Given the description of an element on the screen output the (x, y) to click on. 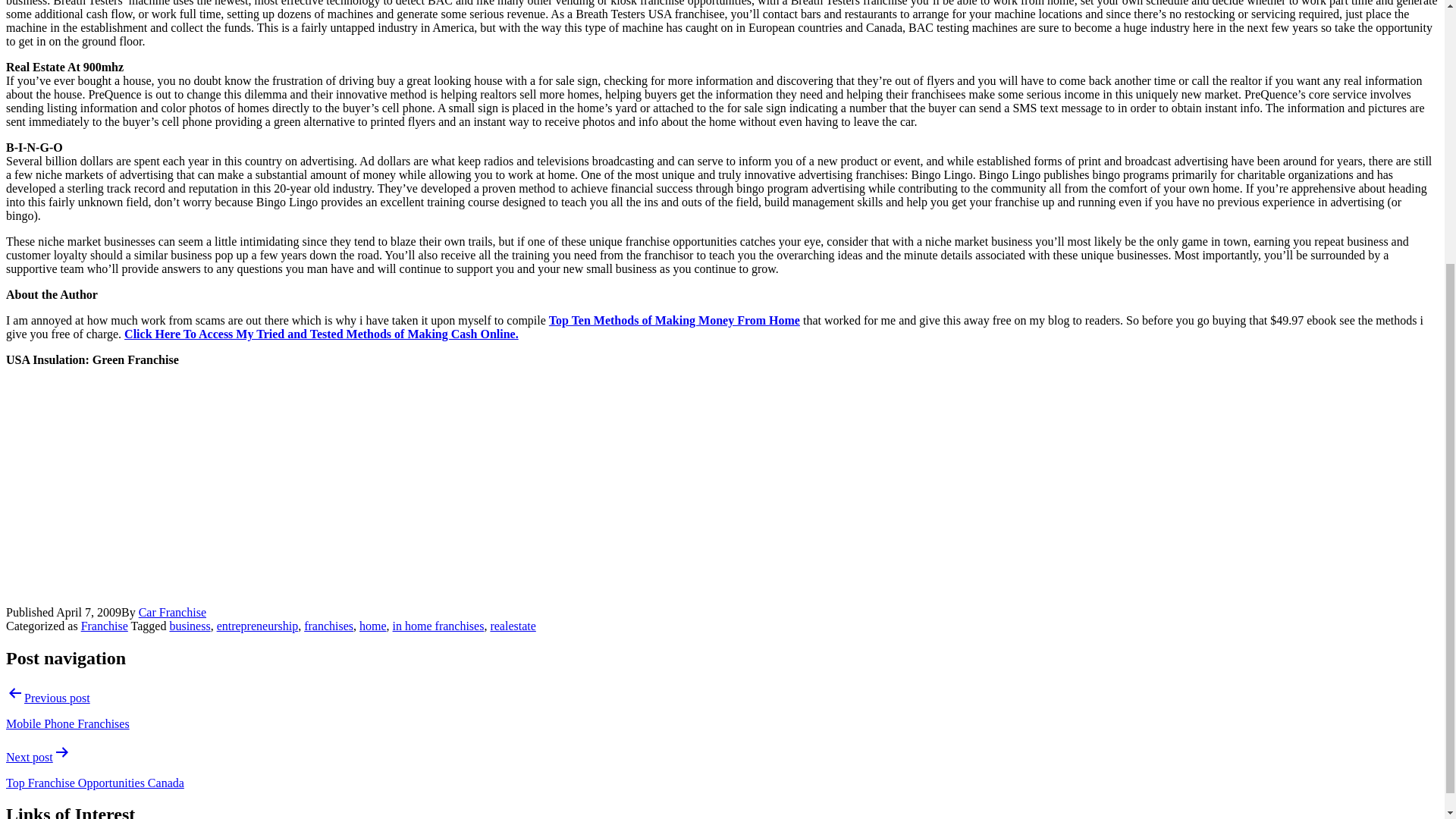
realestate (512, 625)
home (373, 625)
Top Ten Methods of Making Money From Home (673, 319)
Franchise (104, 625)
franchises (328, 625)
Car Franchise (172, 612)
entrepreneurship (257, 625)
in home franchises (438, 625)
business (188, 625)
